Given the description of an element on the screen output the (x, y) to click on. 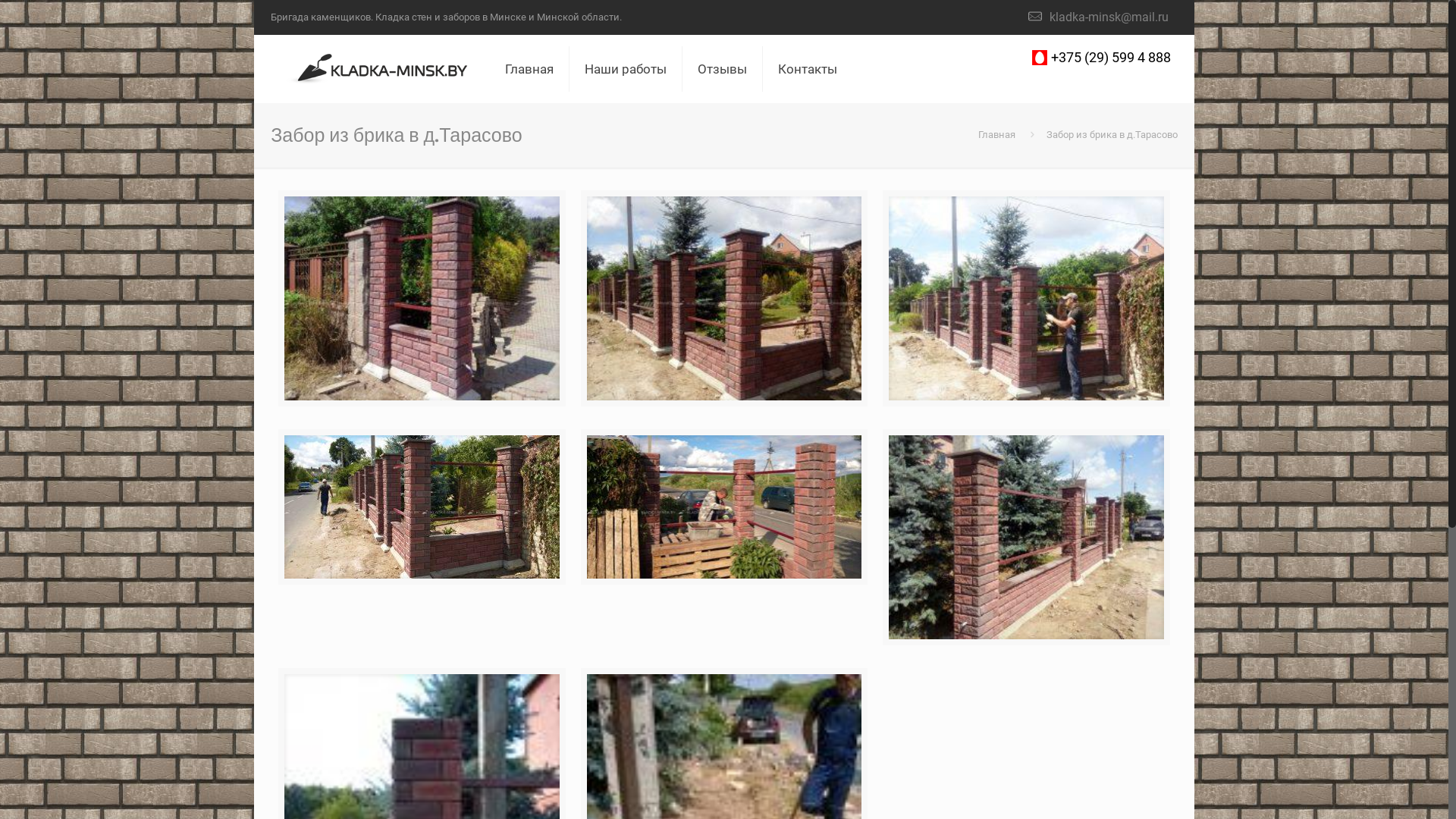
+375 (29) 599 4 888 Element type: text (1110, 57)
kladka-minsk@mail.ru Element type: text (1108, 16)
